Given the description of an element on the screen output the (x, y) to click on. 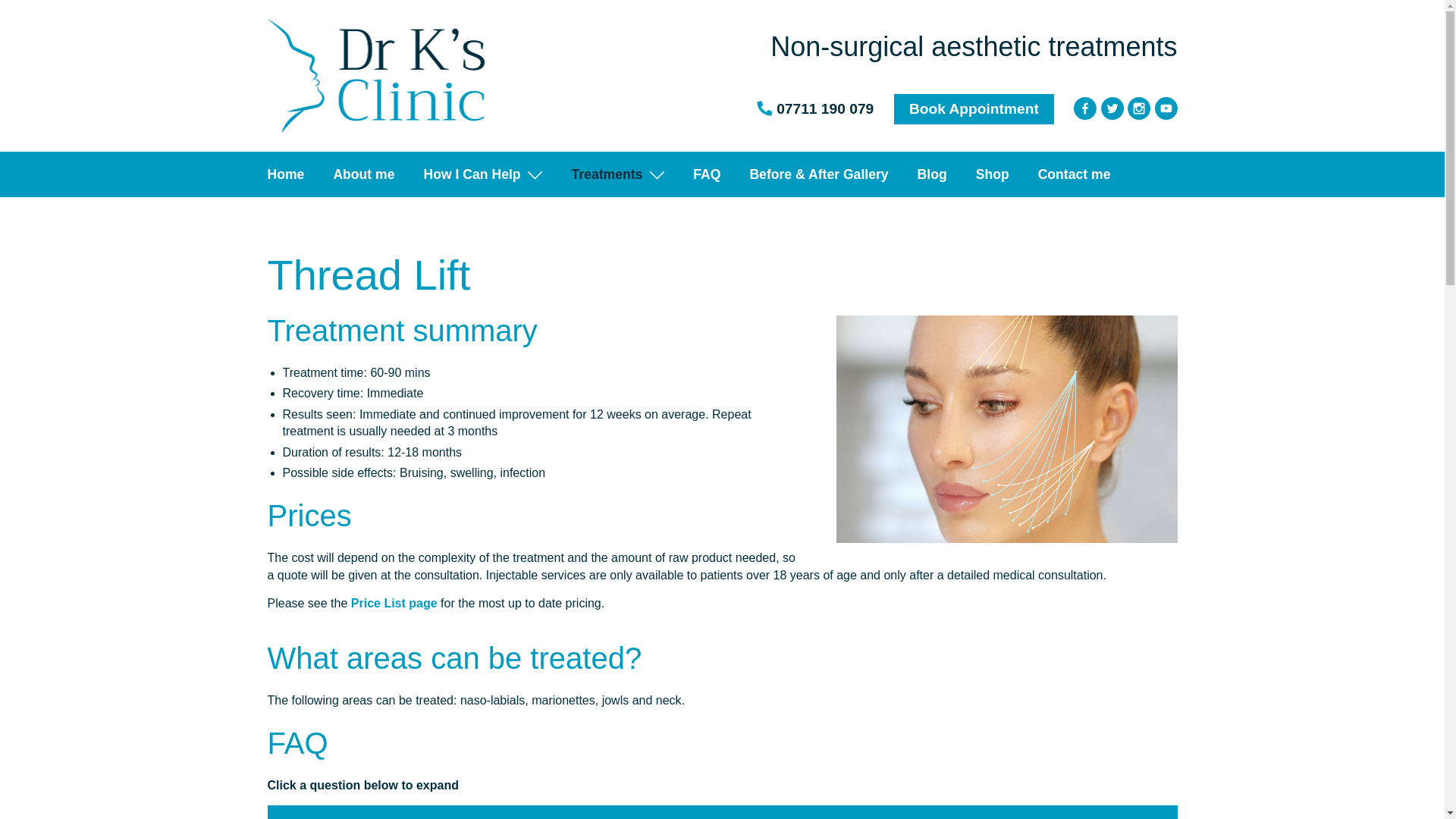
Book Appointment (973, 109)
07711 190 079 (824, 108)
About me (363, 174)
How I Can Help (483, 174)
Treatments (616, 174)
